Given the description of an element on the screen output the (x, y) to click on. 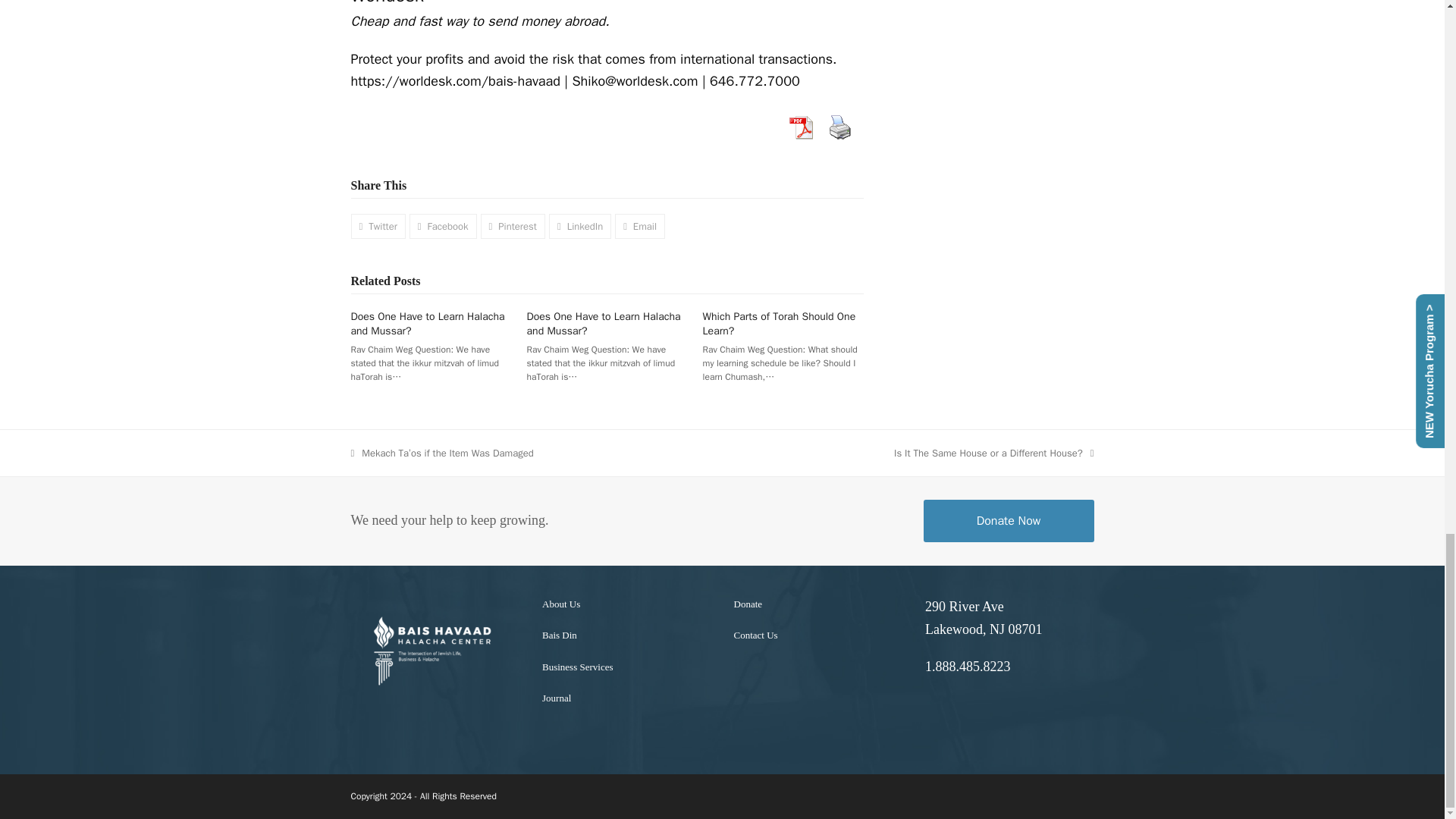
View PDF (800, 127)
Print Content (840, 127)
